Given the description of an element on the screen output the (x, y) to click on. 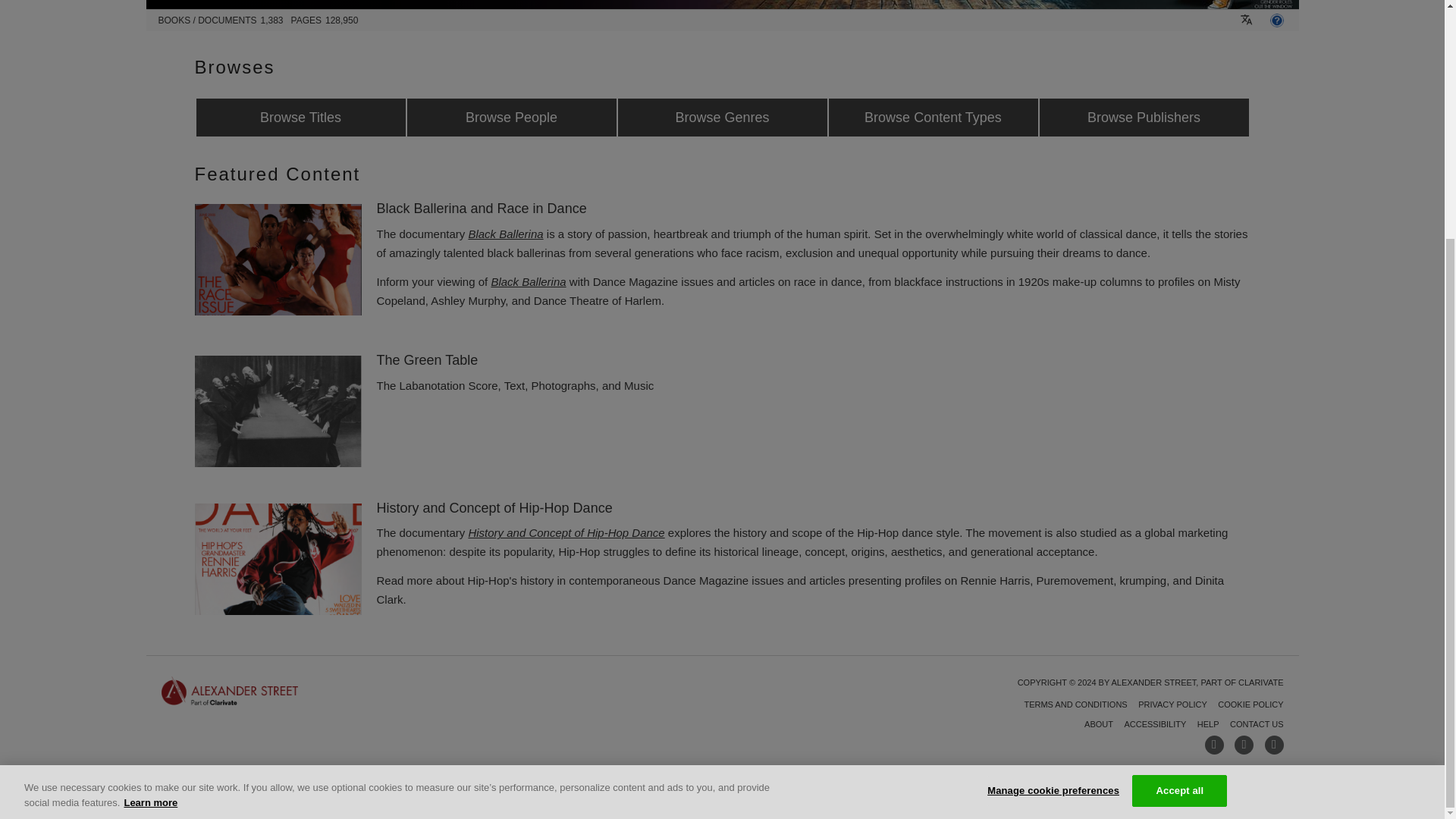
Alexander Street, part of Clarivate on YouTube (1243, 744)
Alexander Street, part of Clarivate on Facebook (1214, 744)
Help (1275, 20)
The Green Table (277, 410)
History and Concept of Hip-Hop Dance (277, 559)
Alexander Street, part of Clarivate on Twitter (1274, 744)
Black Ballerina and Race in Dance (277, 259)
